Given the description of an element on the screen output the (x, y) to click on. 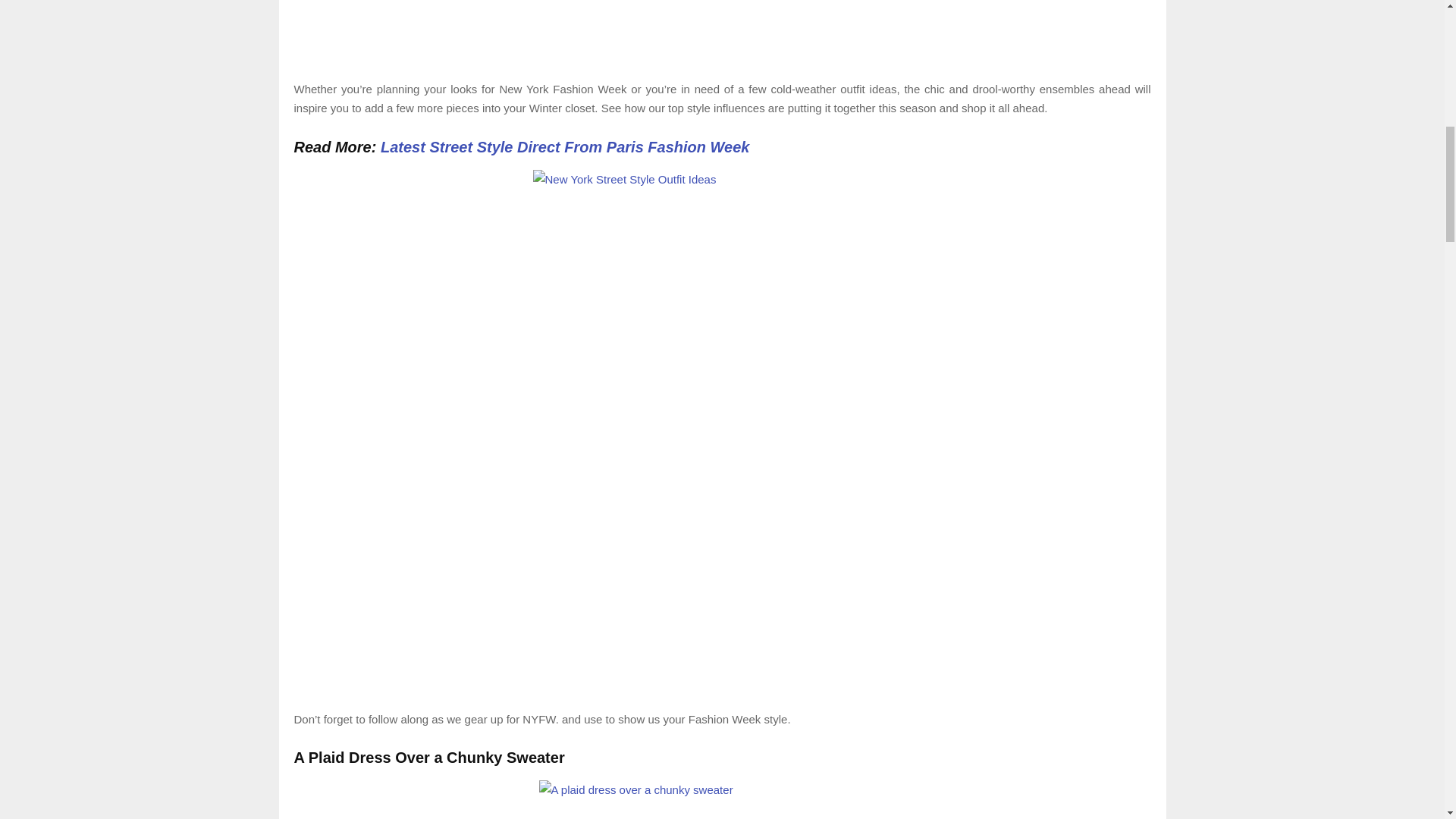
Latest Street Style Direct From Paris Fashion Week (564, 146)
Advertisement (722, 31)
